Given the description of an element on the screen output the (x, y) to click on. 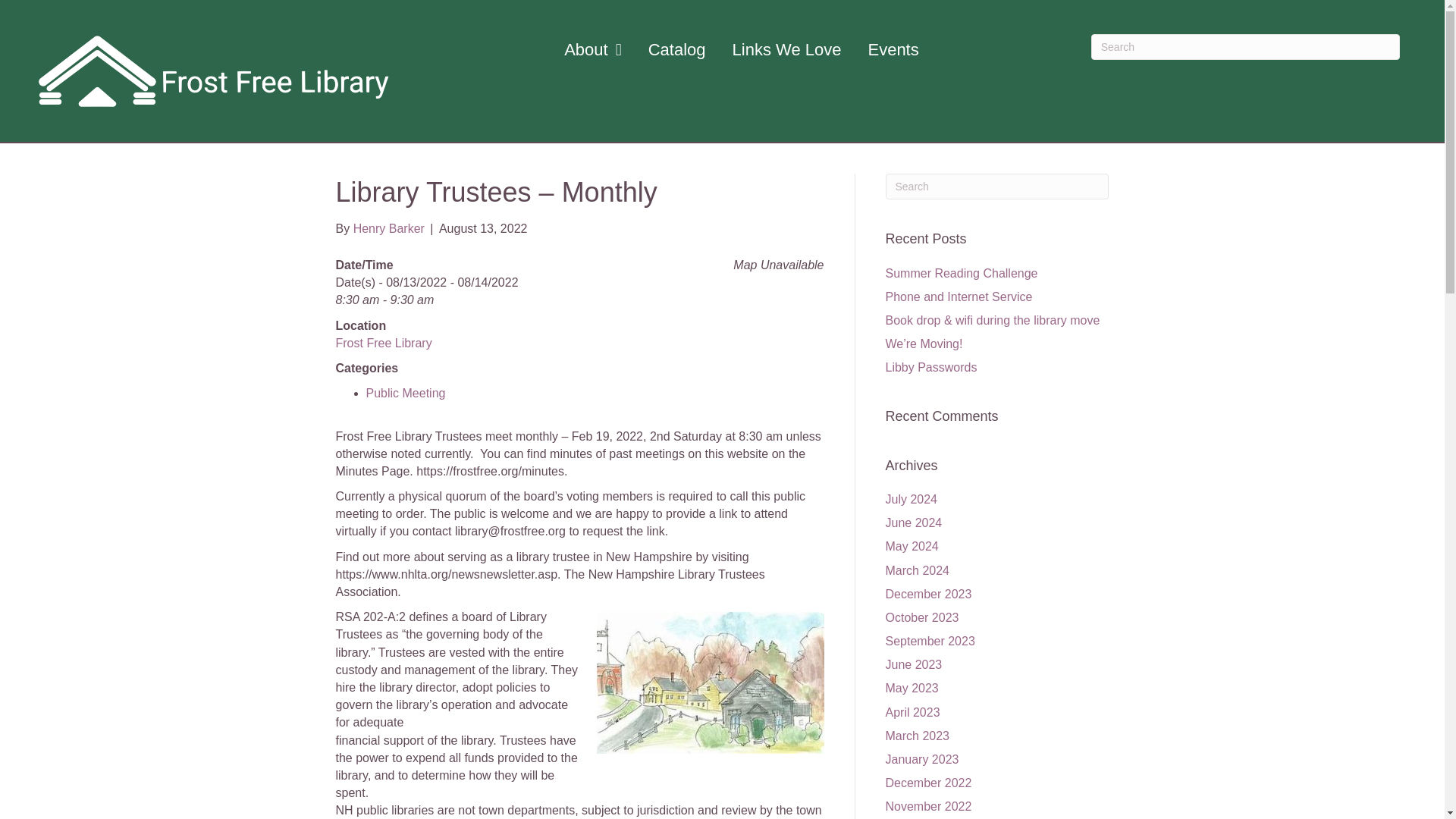
December 2023 (928, 594)
September 2023 (930, 640)
January 2023 (922, 758)
June 2023 (913, 664)
October 2023 (922, 617)
Frost Free Library (382, 342)
July 2024 (911, 499)
Catalog (676, 50)
March 2023 (917, 735)
About (592, 50)
Events (893, 50)
Summer Reading Challenge (961, 273)
April 2023 (912, 712)
December 2022 (928, 782)
June 2024 (913, 522)
